Given the description of an element on the screen output the (x, y) to click on. 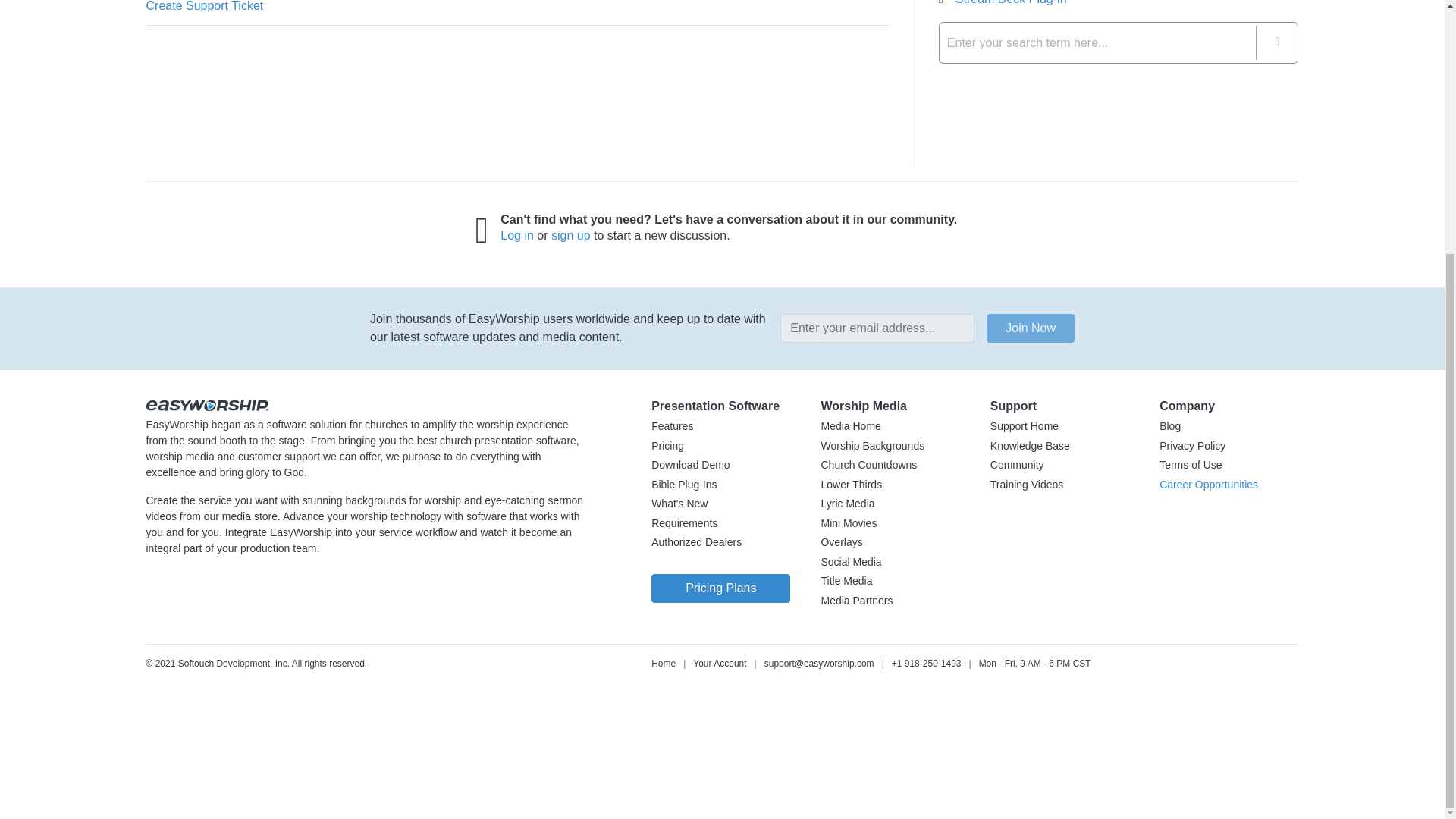
Download Demo (690, 465)
Worship Backgrounds (872, 446)
Media Home (850, 427)
Pricing Plans (720, 588)
What's New (678, 504)
sign up (571, 235)
Authorized Dealers (695, 542)
Chat (113, 757)
Features (671, 427)
Log in (517, 235)
Stream Deck Plug-in (1011, 2)
Join Now (1030, 328)
Requirements (683, 523)
Create Support Ticket (204, 6)
Bible Plug-Ins (683, 485)
